Given the description of an element on the screen output the (x, y) to click on. 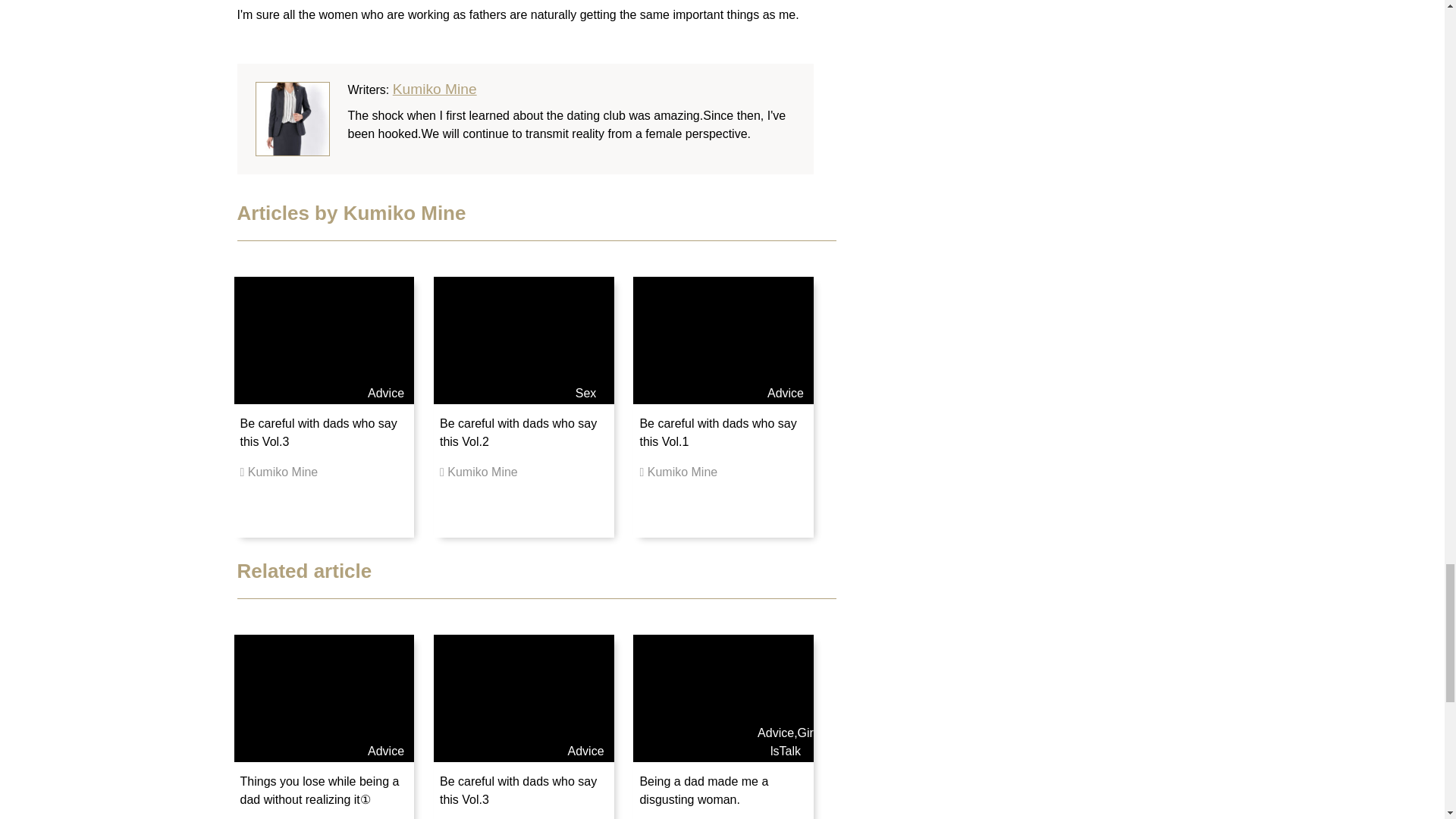
Advice (775, 732)
Advice (585, 750)
Advice (386, 392)
Posts by Kumiko Mine (435, 89)
Advice (386, 750)
Sex (585, 392)
Being a dad made me a disgusting woman. (703, 789)
Kumiko Mine (435, 89)
Be careful with dads who say this Vol.3 (517, 789)
Be careful with dads who say this Vol.2 (517, 431)
Be careful with dads who say this Vol.1 (717, 431)
Advice (785, 392)
Be careful with dads who say this Vol.3 (318, 431)
GirlsTalk (791, 741)
